Given the description of an element on the screen output the (x, y) to click on. 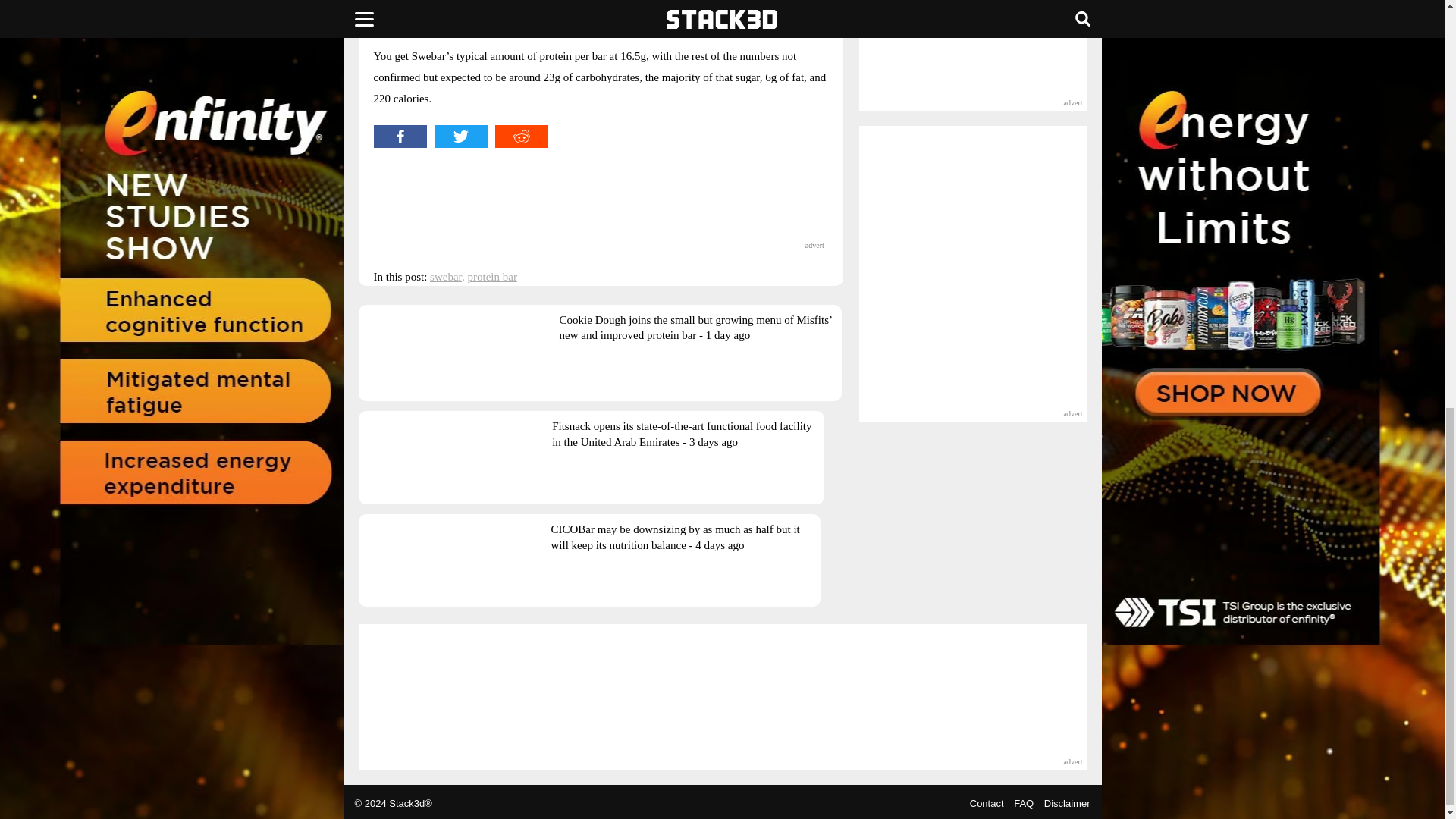
swebar (445, 276)
protein bar (491, 276)
